Given the description of an element on the screen output the (x, y) to click on. 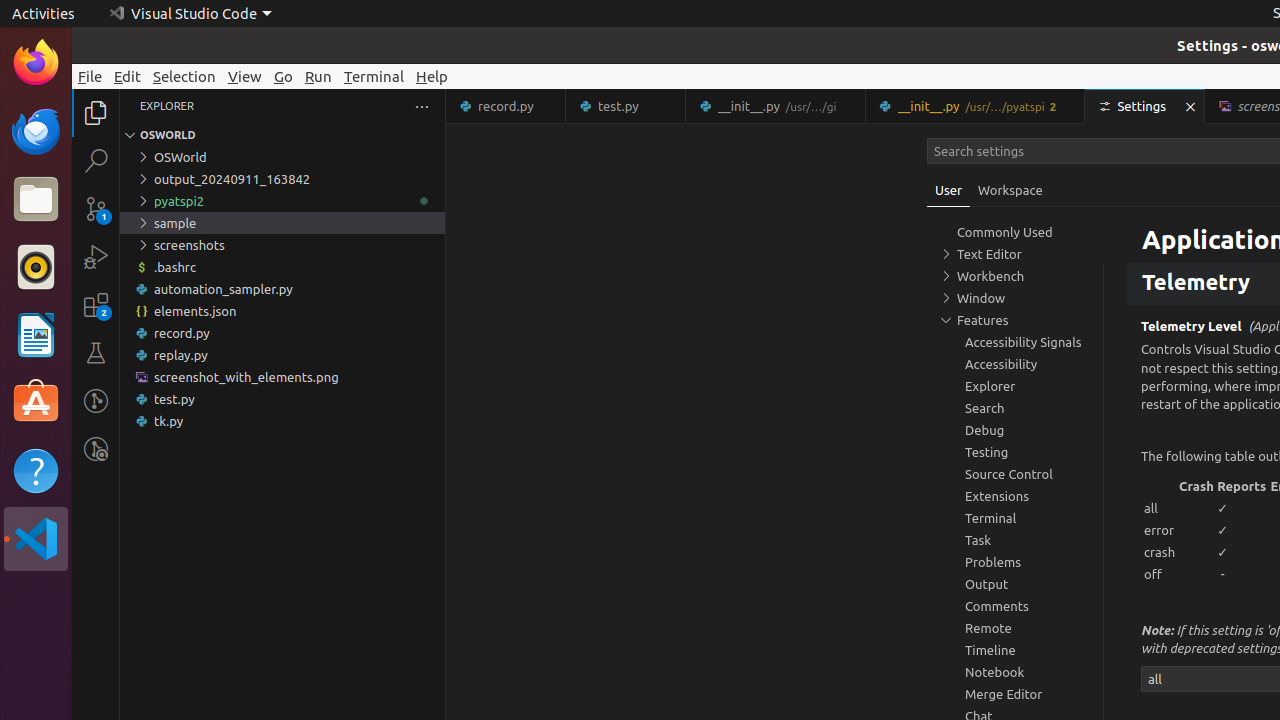
record.py Element type: page-tab (506, 106)
Accessibility Signals, group Element type: tree-item (1015, 342)
Notebook, group Element type: tree-item (1015, 672)
